Given the description of an element on the screen output the (x, y) to click on. 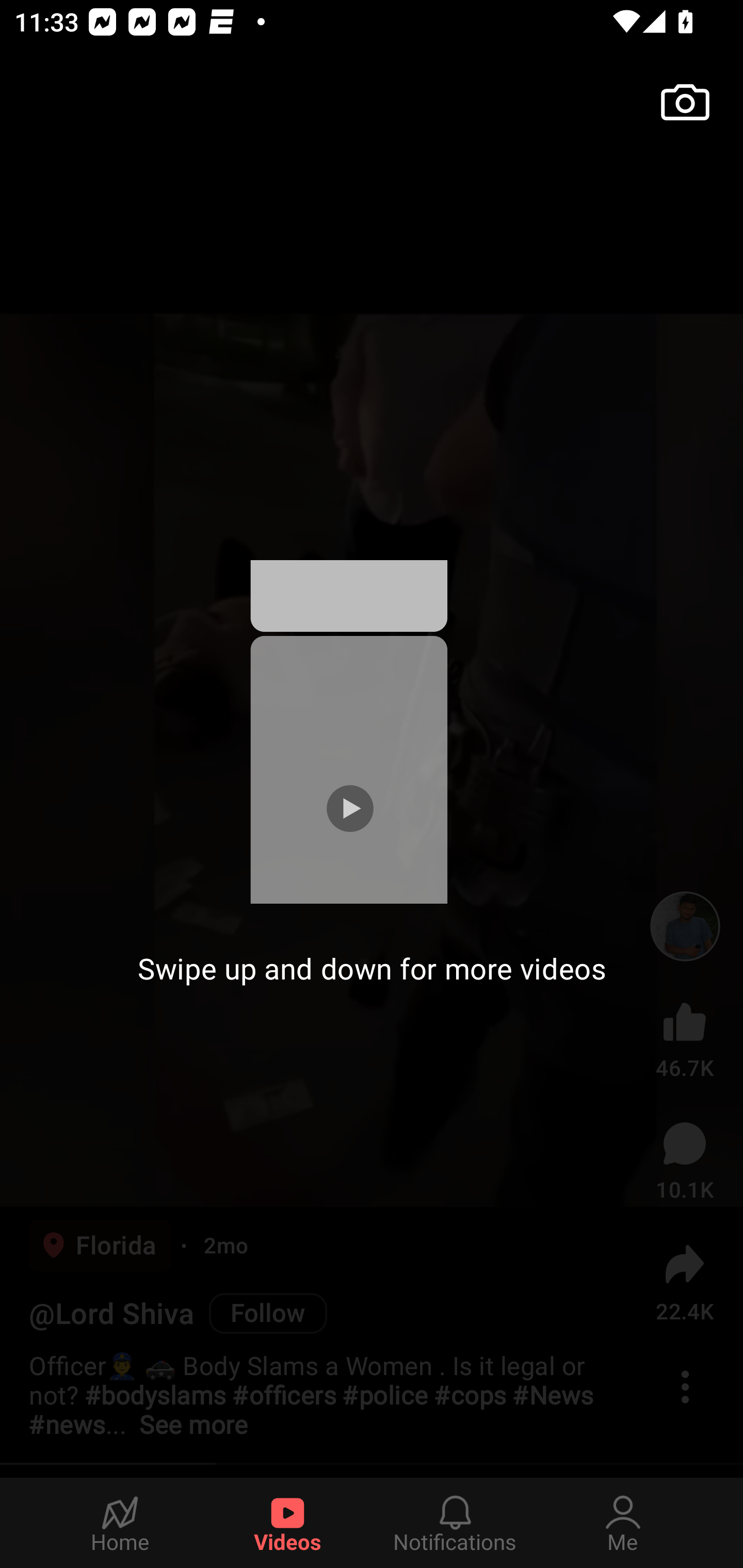
Home (119, 1522)
Notifications (455, 1522)
Me (622, 1522)
